Given the description of an element on the screen output the (x, y) to click on. 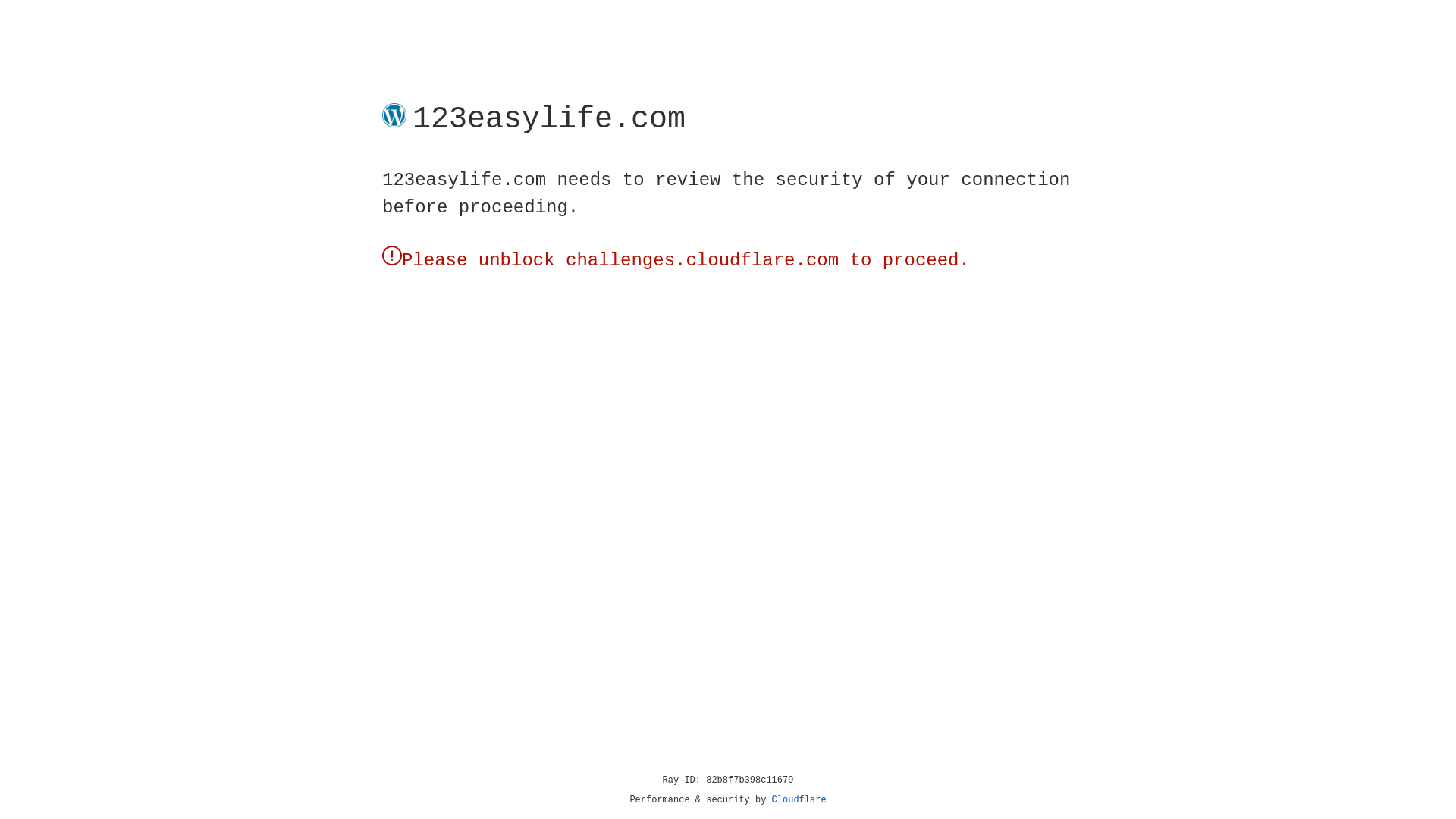
Cloudflare Element type: text (798, 799)
